Given the description of an element on the screen output the (x, y) to click on. 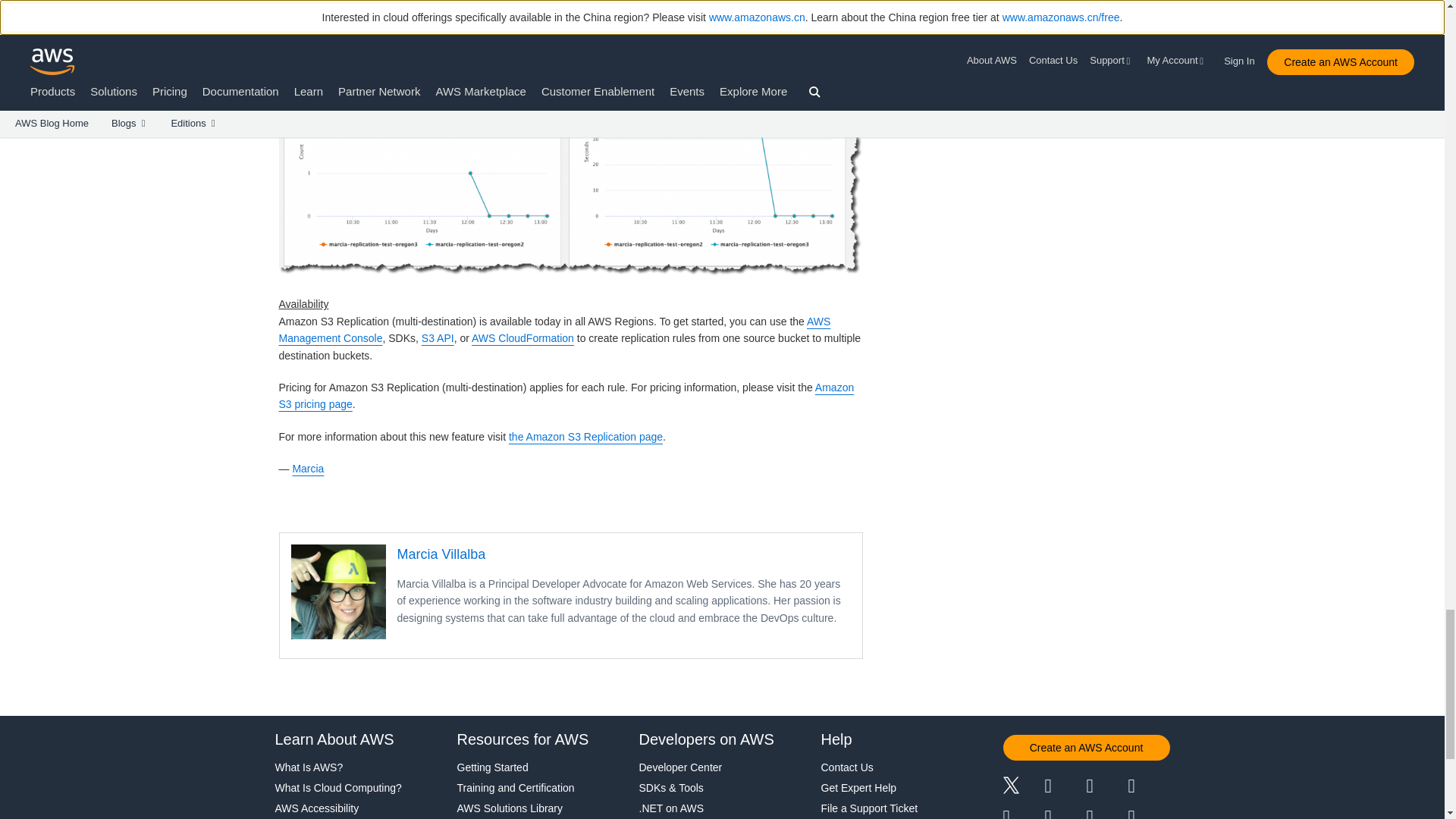
AWS SDKs (401, 337)
